Given the description of an element on the screen output the (x, y) to click on. 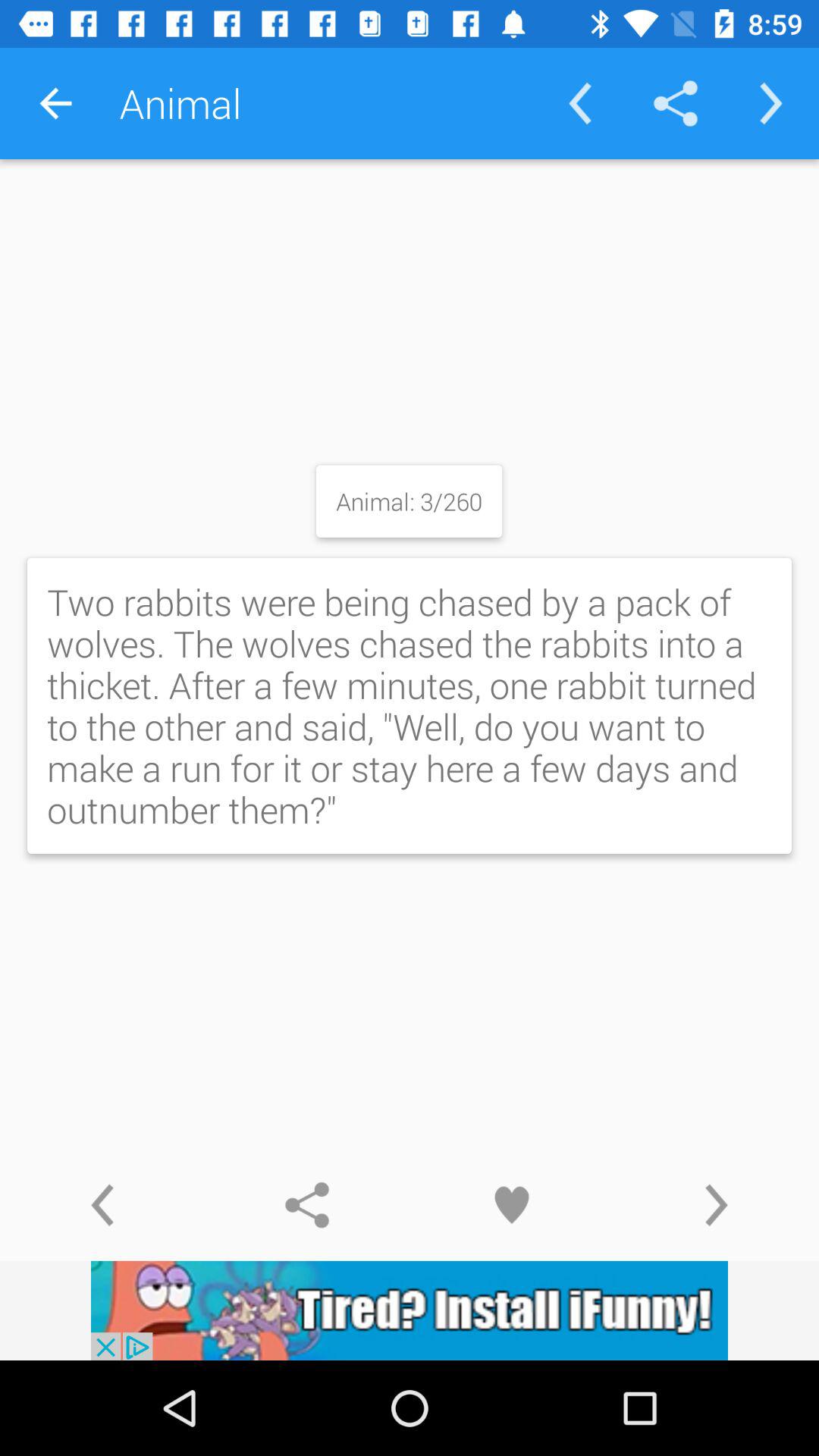
add to favourites (511, 1205)
